Given the description of an element on the screen output the (x, y) to click on. 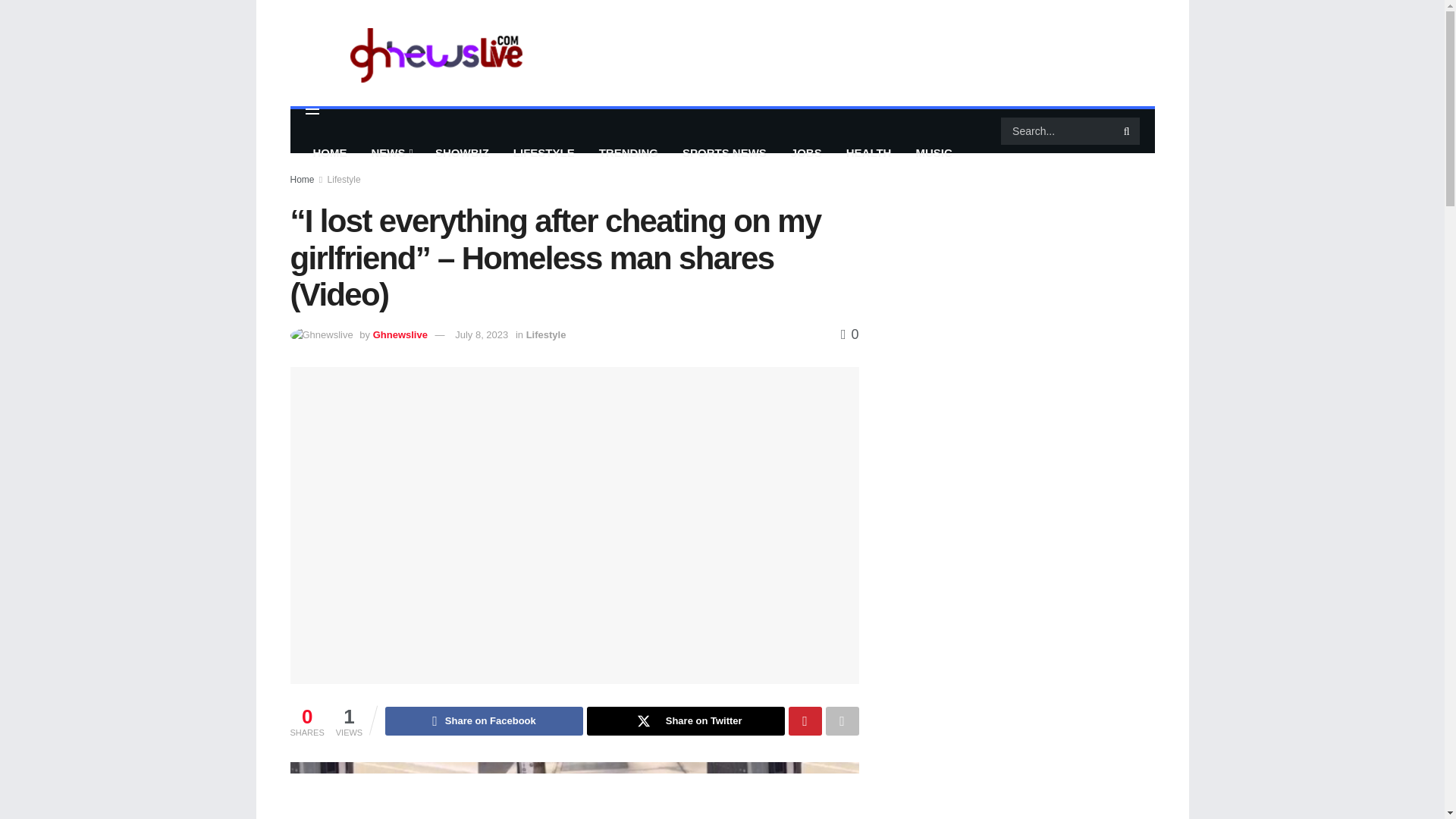
JOBS (806, 153)
Home (301, 179)
HOME (328, 153)
MUSIC (932, 153)
SPORTS NEWS (723, 153)
HEALTH (869, 153)
TRENDING (627, 153)
SHOWBIZ (461, 153)
NEWS (391, 153)
LIFESTYLE (543, 153)
